Given the description of an element on the screen output the (x, y) to click on. 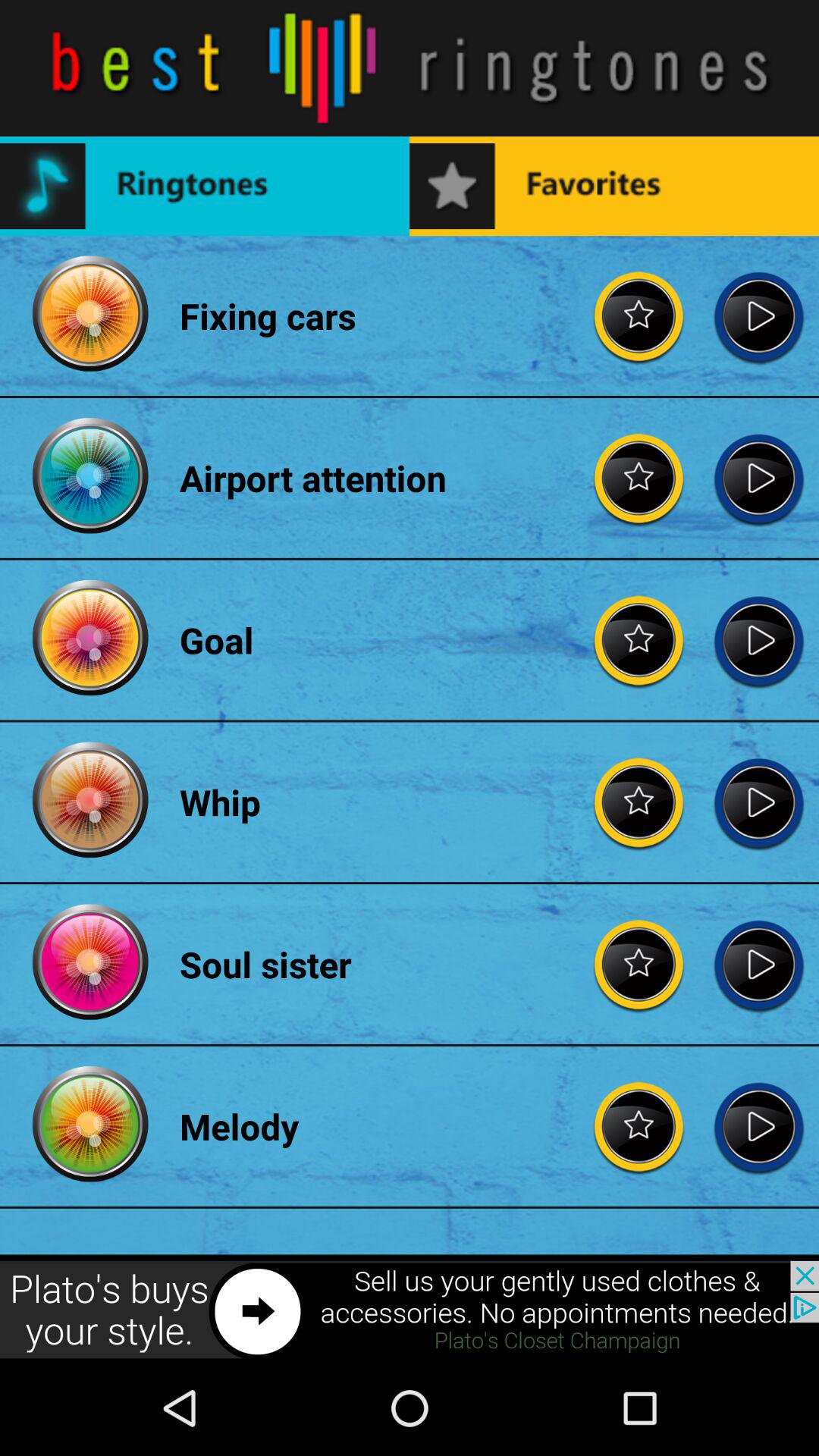
add to favorites (639, 1126)
